Given the description of an element on the screen output the (x, y) to click on. 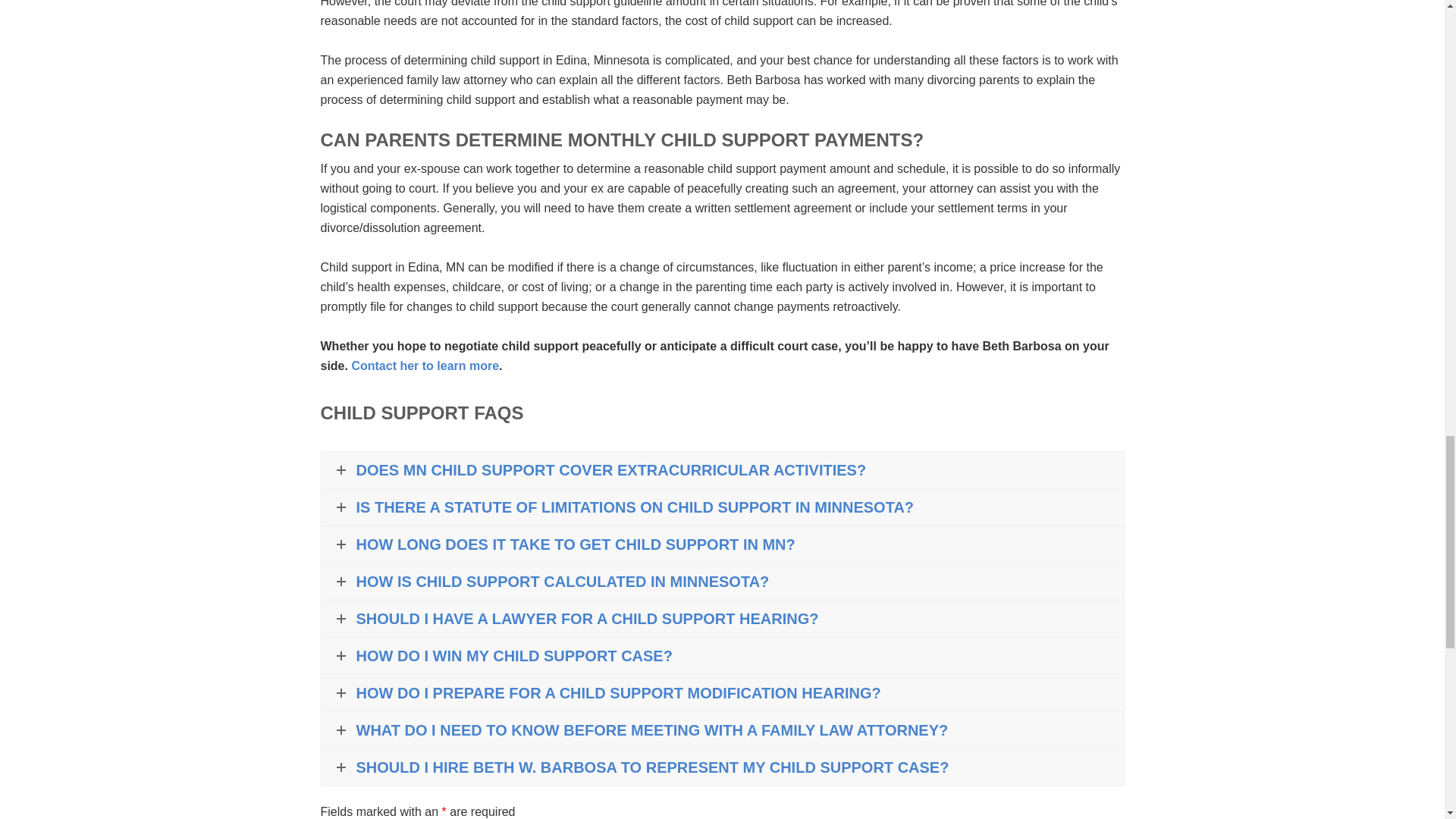
HOW DO I PREPARE FOR A CHILD SUPPORT MODIFICATION HEARING? (722, 692)
HOW DO I WIN MY CHILD SUPPORT CASE? (722, 656)
DOES MN CHILD SUPPORT COVER EXTRACURRICULAR ACTIVITIES? (722, 470)
HOW IS CHILD SUPPORT CALCULATED IN MINNESOTA? (722, 581)
Contact her to learn more (424, 365)
HOW LONG DOES IT TAKE TO GET CHILD SUPPORT IN MN? (722, 544)
SHOULD I HAVE A LAWYER FOR A CHILD SUPPORT HEARING? (722, 618)
